Given the description of an element on the screen output the (x, y) to click on. 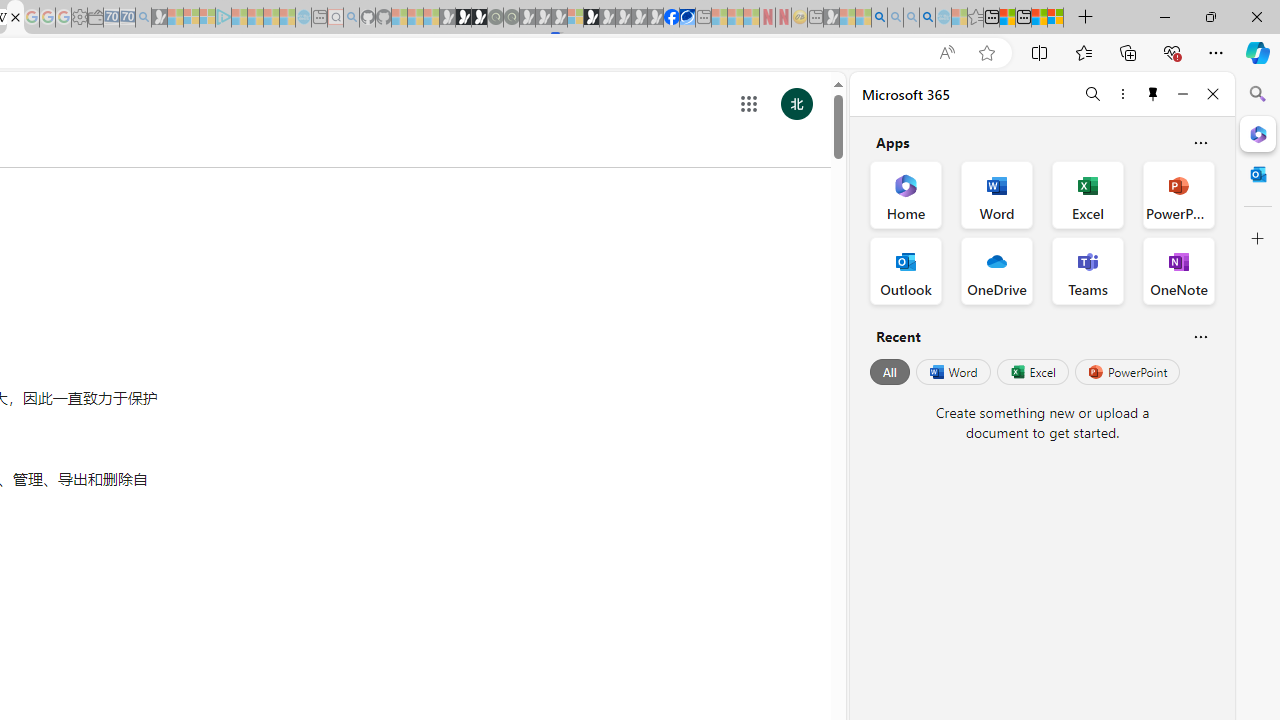
Aberdeen, Hong Kong SAR weather forecast | Microsoft Weather (1007, 17)
Is this helpful? (1200, 336)
MSN - Sleeping (831, 17)
Word (952, 372)
